Given the description of an element on the screen output the (x, y) to click on. 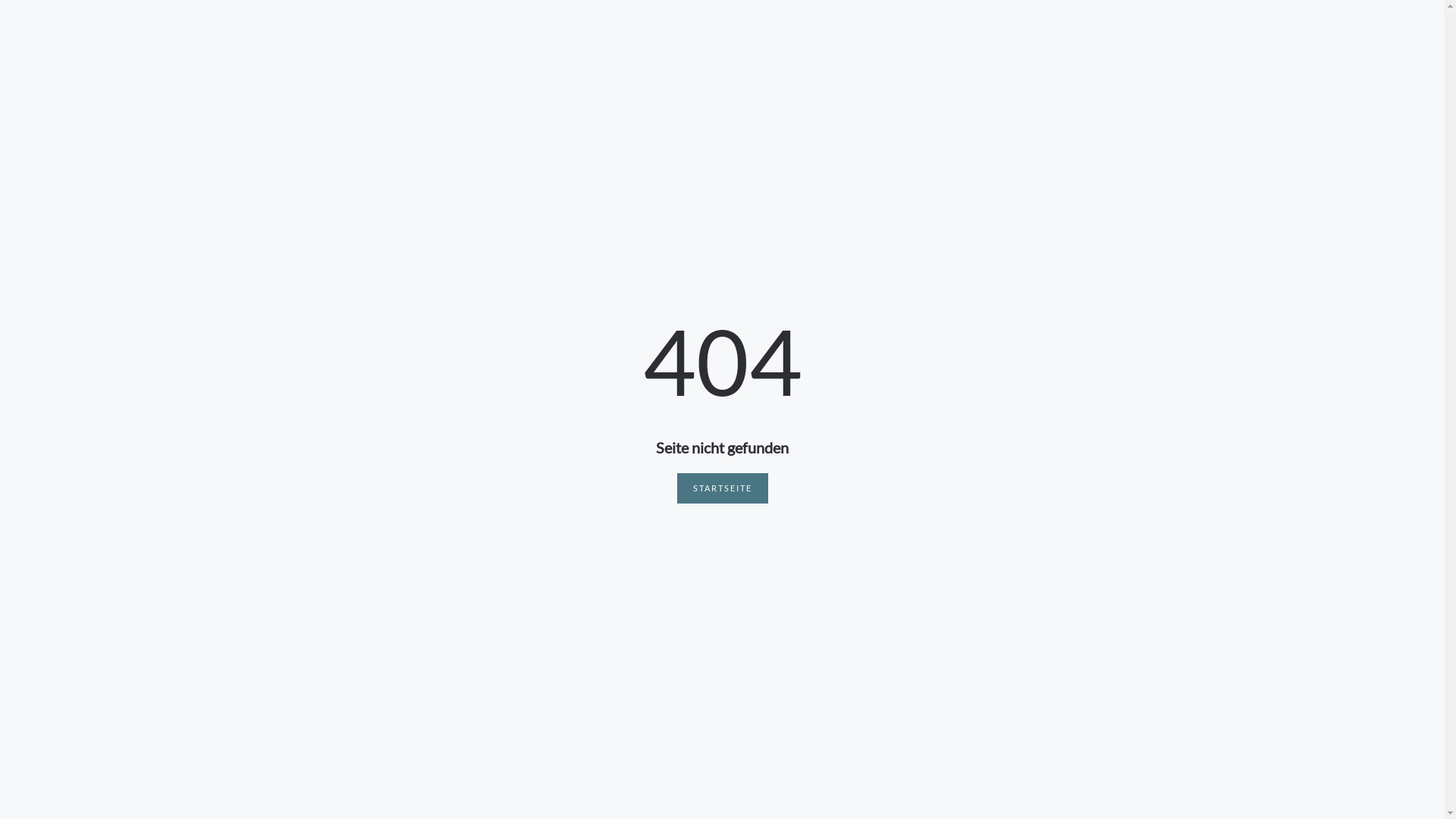
STARTSEITE Element type: text (721, 488)
